Given the description of an element on the screen output the (x, y) to click on. 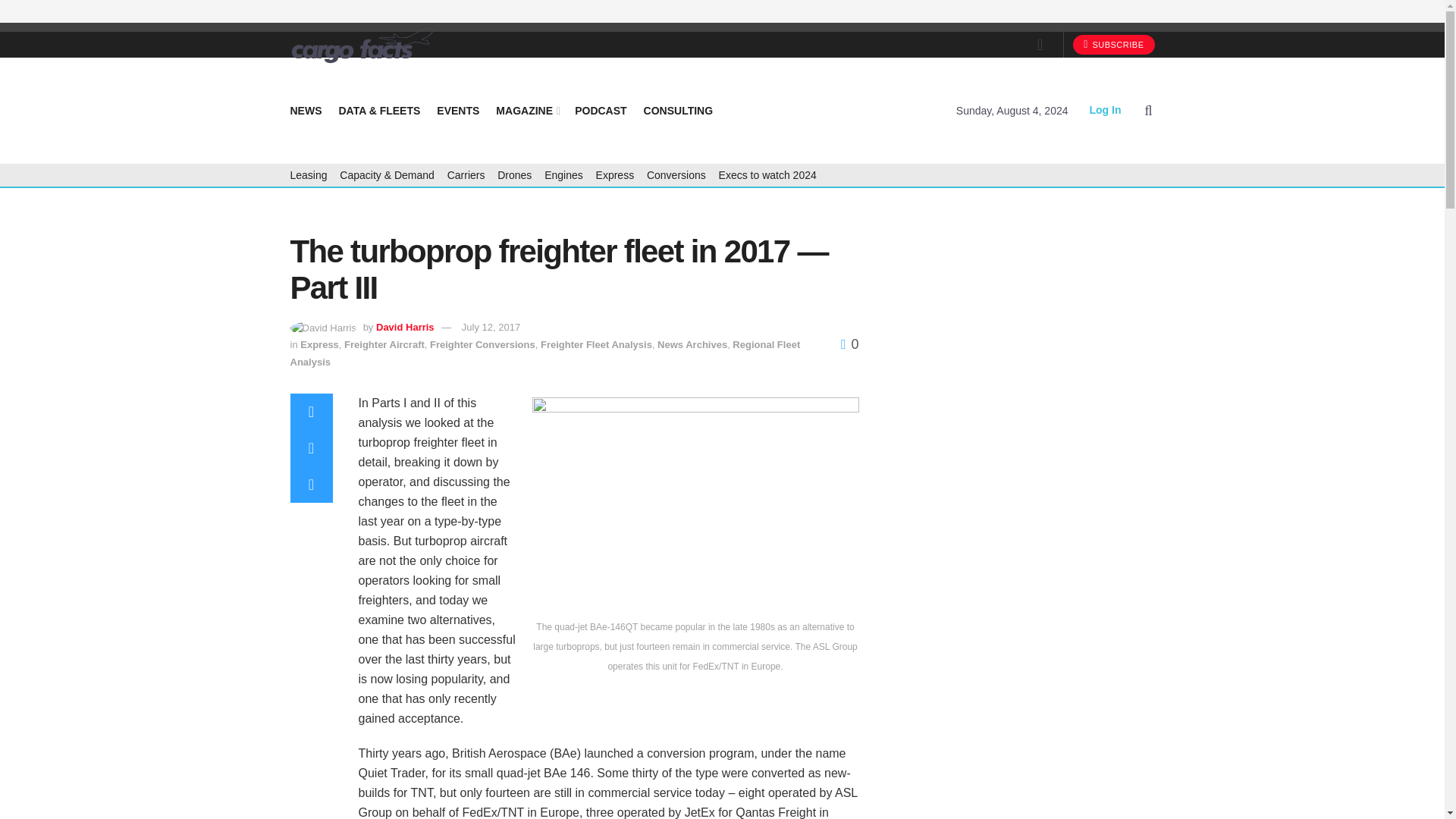
Leasing (307, 174)
Log In (1105, 110)
Express (614, 174)
Conversions (676, 174)
PODCAST (600, 110)
EVENTS (457, 110)
Carriers (465, 174)
Engines (563, 174)
Drones (514, 174)
Log In (1105, 110)
NEWS (305, 110)
CONSULTING (678, 110)
Execs to watch 2024 (767, 174)
SUBSCRIBE (1113, 44)
MAGAZINE (526, 110)
